Given the description of an element on the screen output the (x, y) to click on. 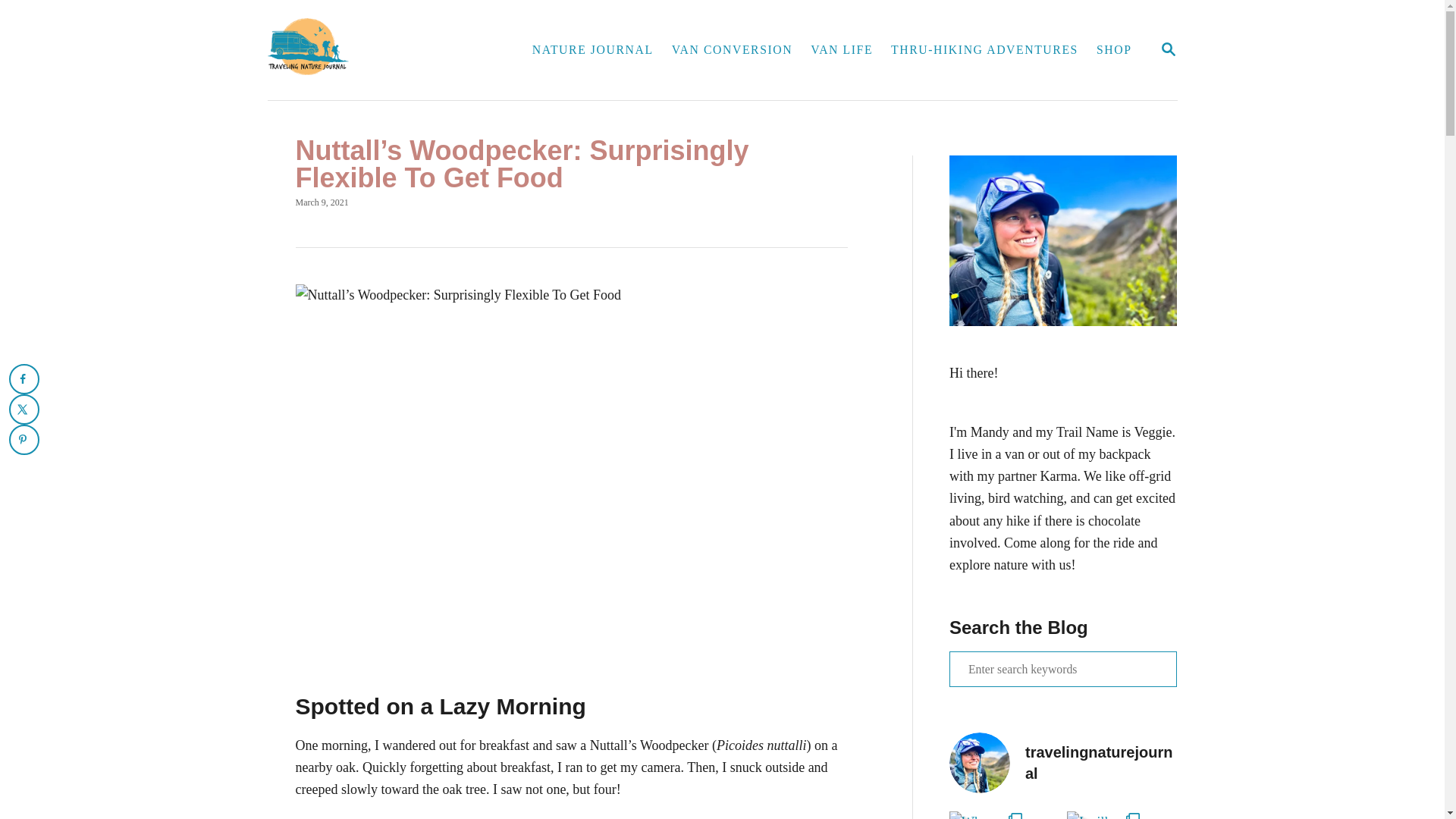
Share on Facebook (23, 378)
Search (22, 22)
Share on X (23, 409)
Traveling Nature Journal (387, 49)
Search for: (1062, 669)
SHOP (1168, 50)
NATURE JOURNAL (1114, 49)
THRU-HIKING ADVENTURES (592, 49)
VAN LIFE (984, 49)
